Given the description of an element on the screen output the (x, y) to click on. 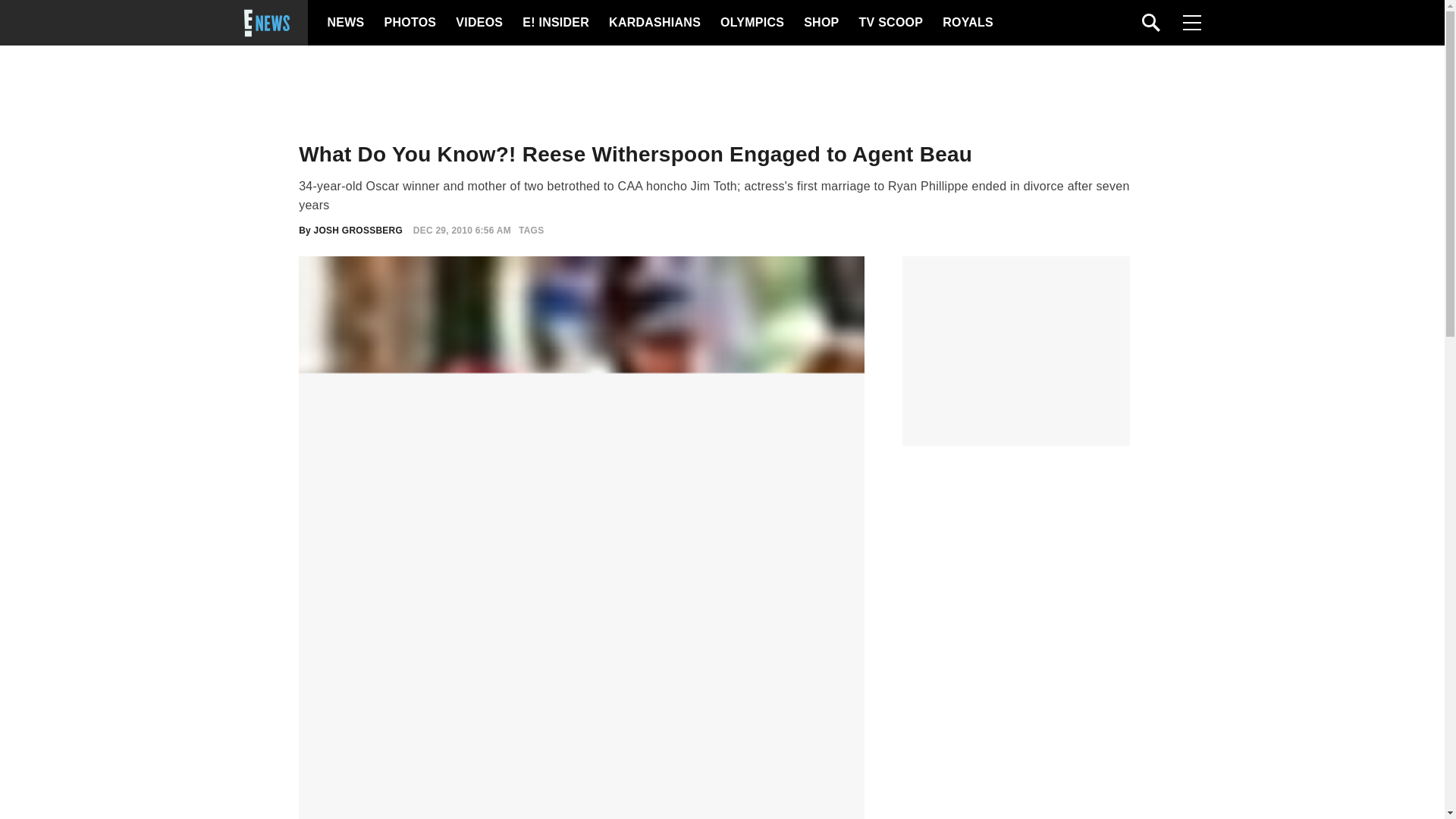
VIDEOS (478, 22)
TV SCOOP (890, 22)
SHOP (820, 22)
OLYMPICS (751, 22)
JOSH GROSSBERG (358, 230)
KARDASHIANS (653, 22)
E! INSIDER (555, 22)
PHOTOS (408, 22)
ROYALS (966, 22)
NEWS (345, 22)
